Given the description of an element on the screen output the (x, y) to click on. 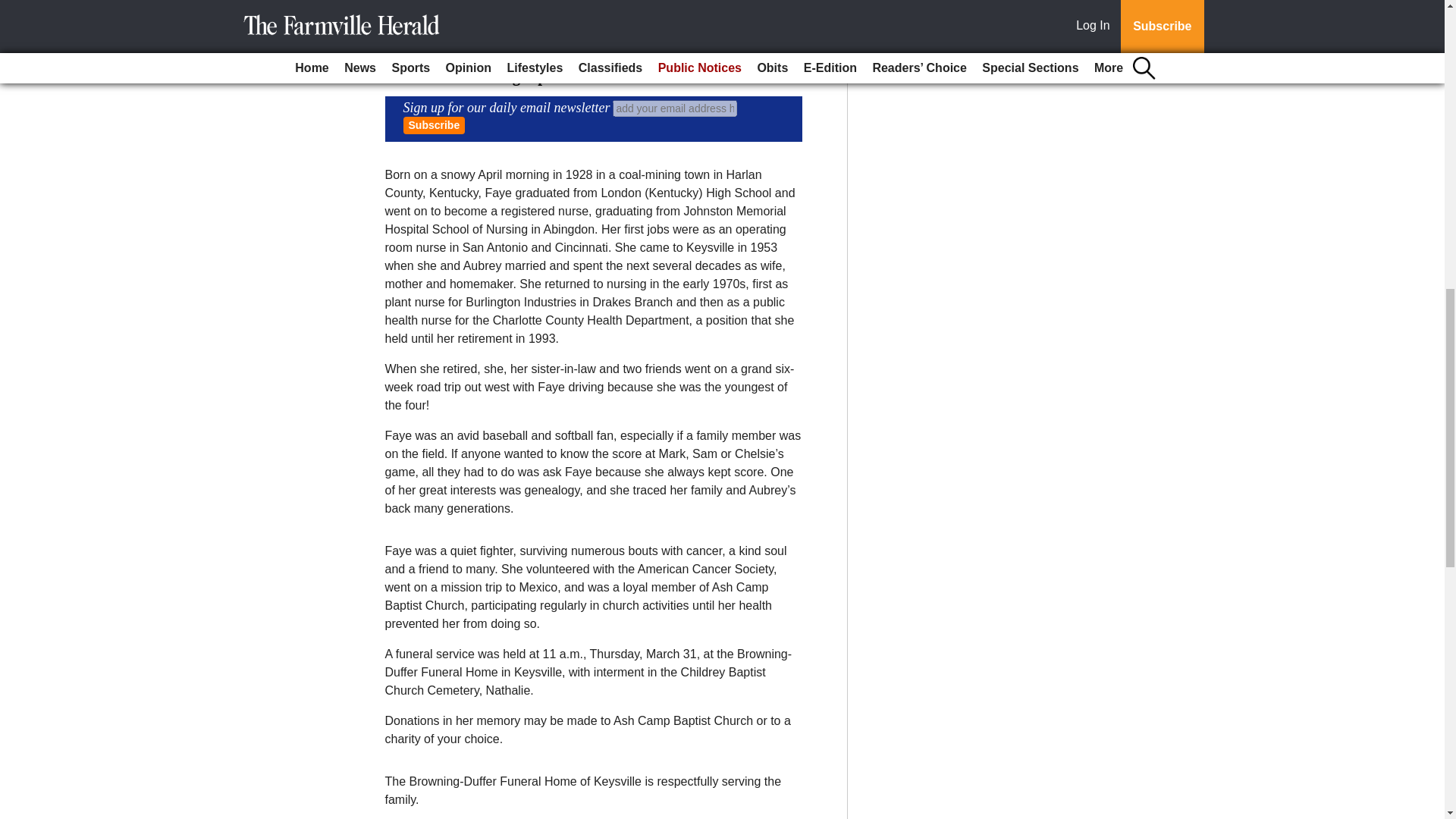
Subscribe (434, 125)
Subscribe (434, 125)
